Given the description of an element on the screen output the (x, y) to click on. 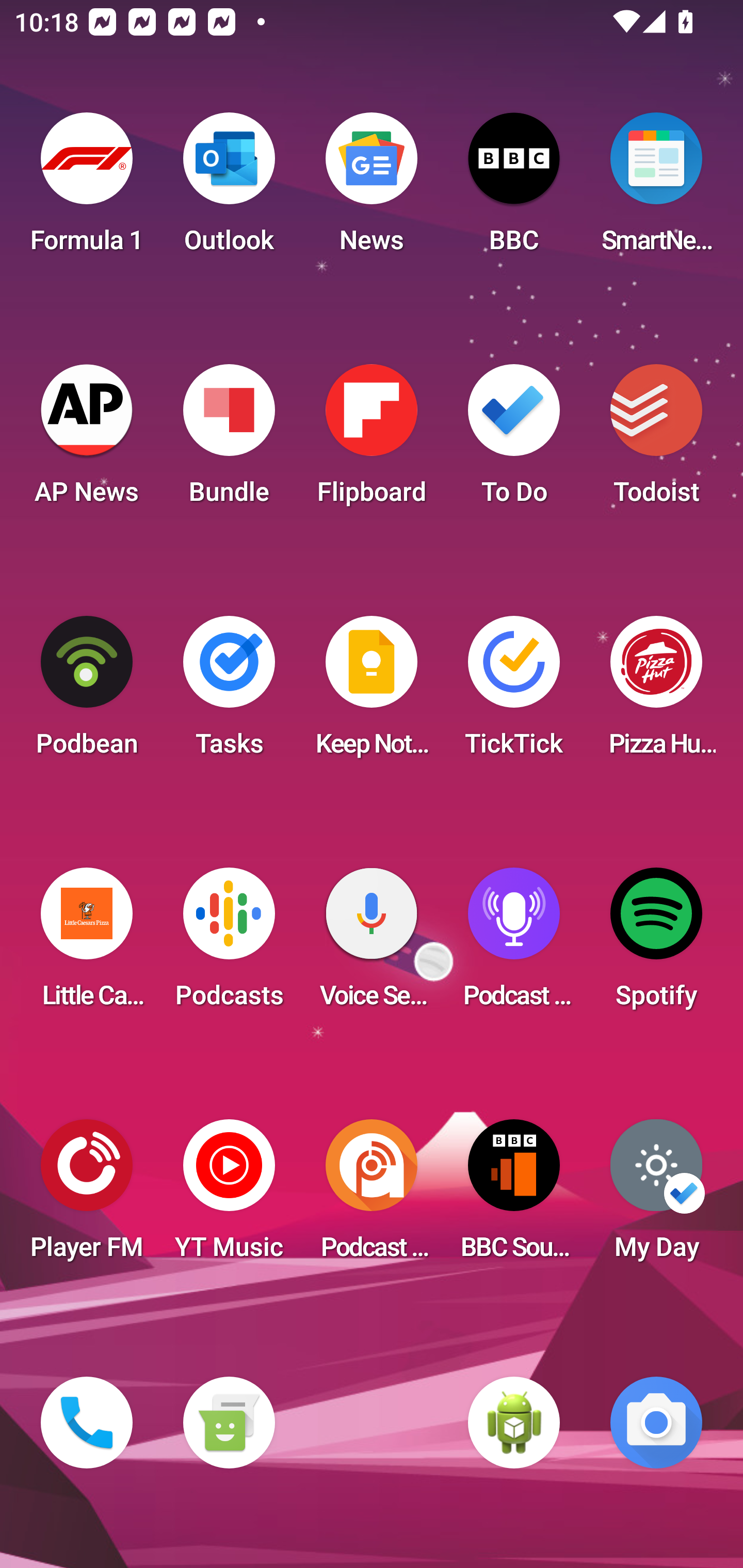
Formula 1 (86, 188)
Outlook (228, 188)
News (371, 188)
BBC (513, 188)
SmartNews (656, 188)
AP News (86, 440)
Bundle (228, 440)
Flipboard (371, 440)
To Do (513, 440)
Todoist (656, 440)
Podbean (86, 692)
Tasks (228, 692)
Keep Notes (371, 692)
TickTick (513, 692)
Pizza Hut HK & Macau (656, 692)
Little Caesars Pizza (86, 943)
Podcasts (228, 943)
Voice Search (371, 943)
Podcast Player (513, 943)
Spotify (656, 943)
Player FM (86, 1195)
YT Music (228, 1195)
Podcast Addict (371, 1195)
BBC Sounds (513, 1195)
My Day (656, 1195)
Phone (86, 1422)
Messaging (228, 1422)
WebView Browser Tester (513, 1422)
Camera (656, 1422)
